Given the description of an element on the screen output the (x, y) to click on. 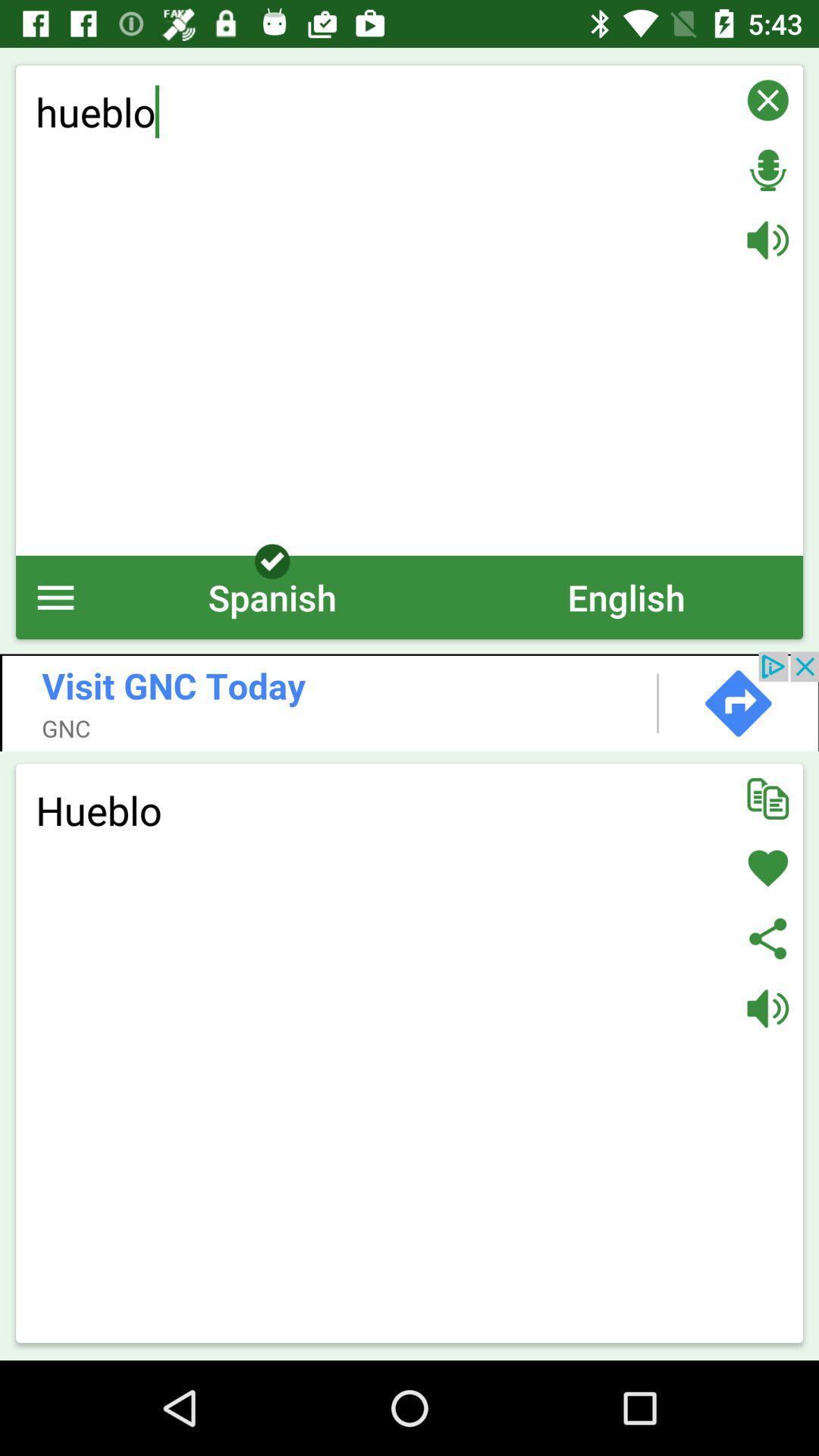
launch icon to the left of spanish (55, 597)
